Given the description of an element on the screen output the (x, y) to click on. 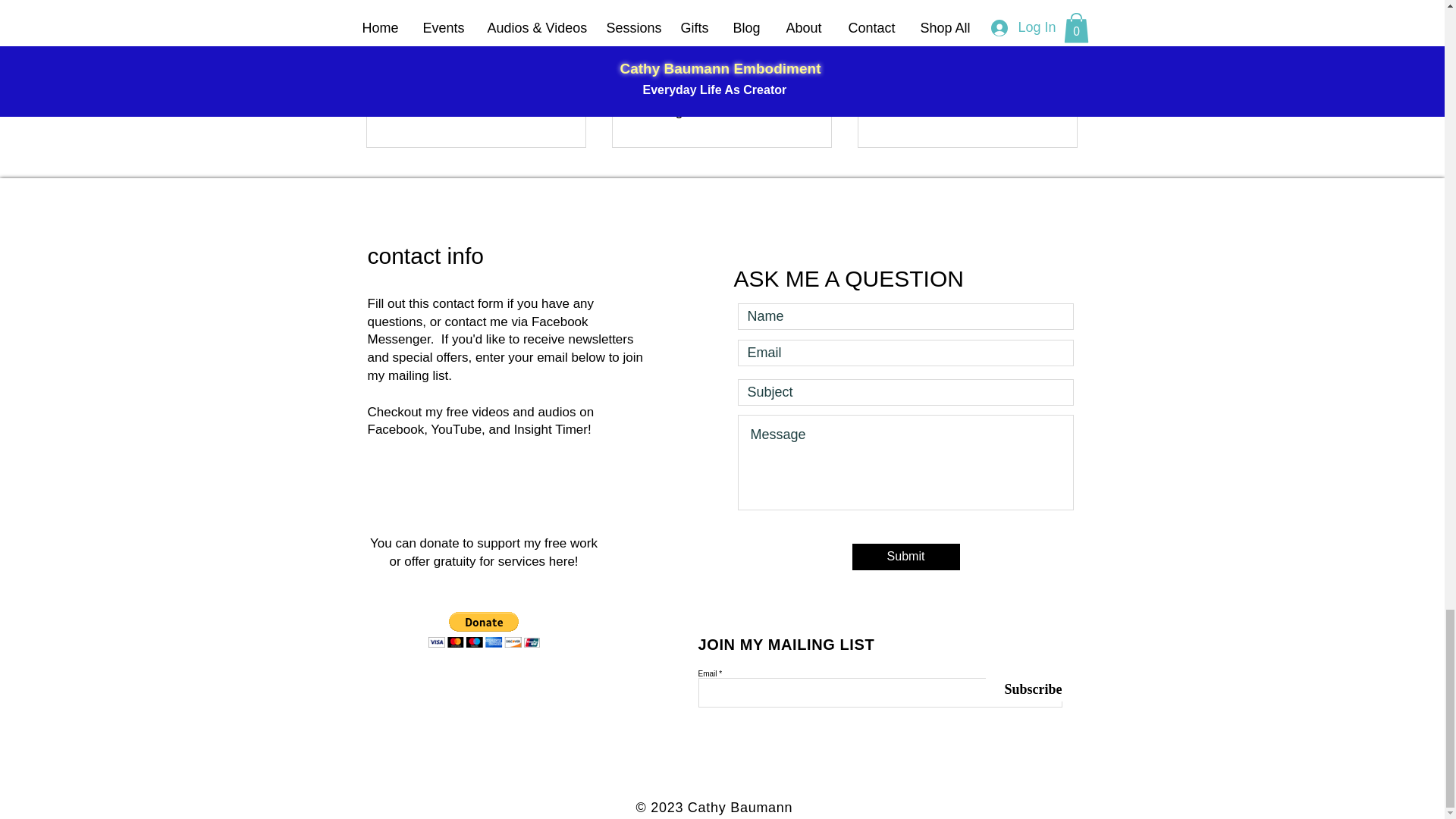
Submit (905, 556)
Your Loved Ones Are Still Here (476, 102)
Subscribe (1023, 689)
Endless Field Of Fabulous (967, 94)
